Given the description of an element on the screen output the (x, y) to click on. 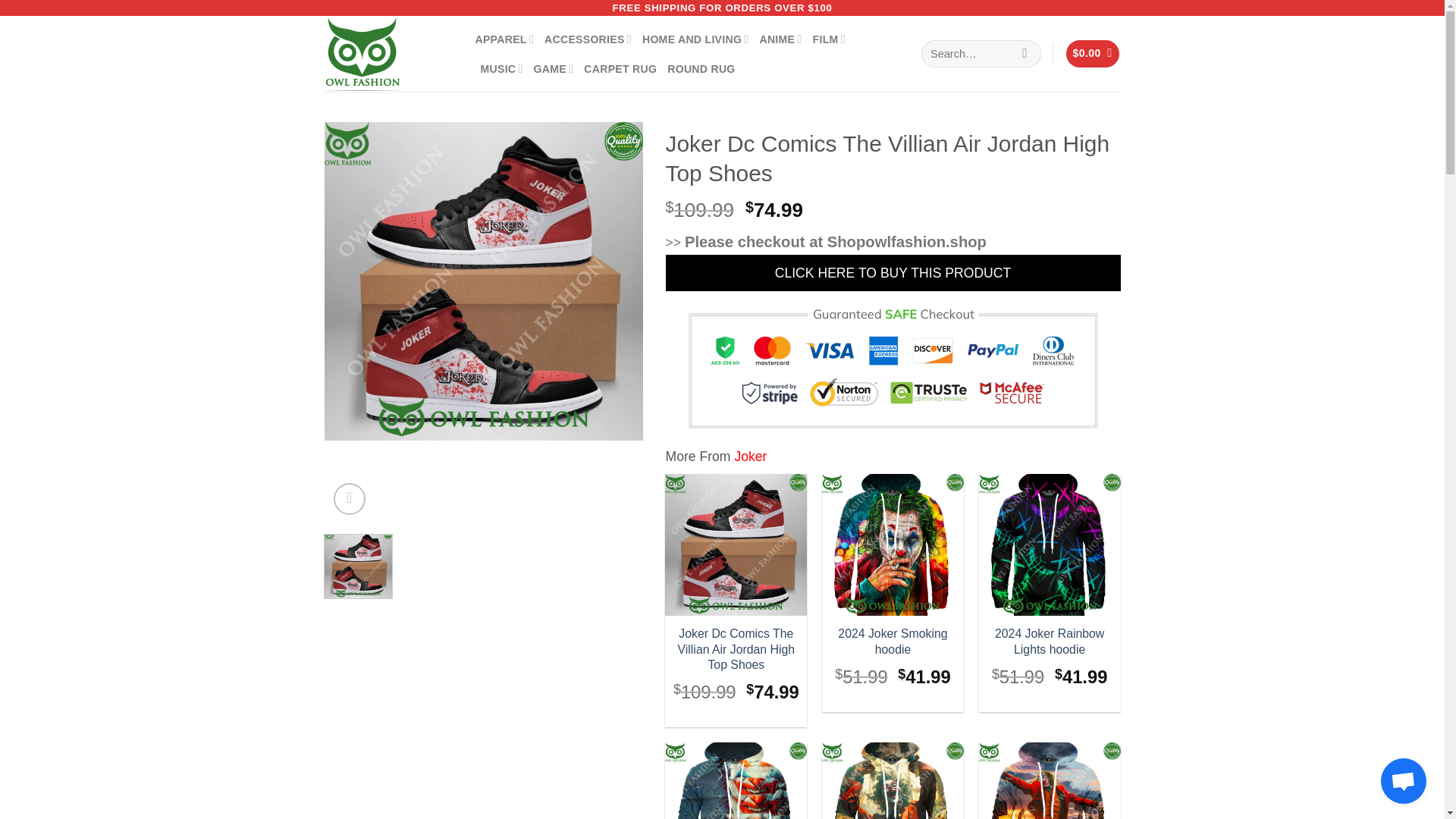
Owl Fashion Shop (388, 53)
Cart (1092, 53)
Zoom (349, 499)
APPAREL (504, 39)
